Given the description of an element on the screen output the (x, y) to click on. 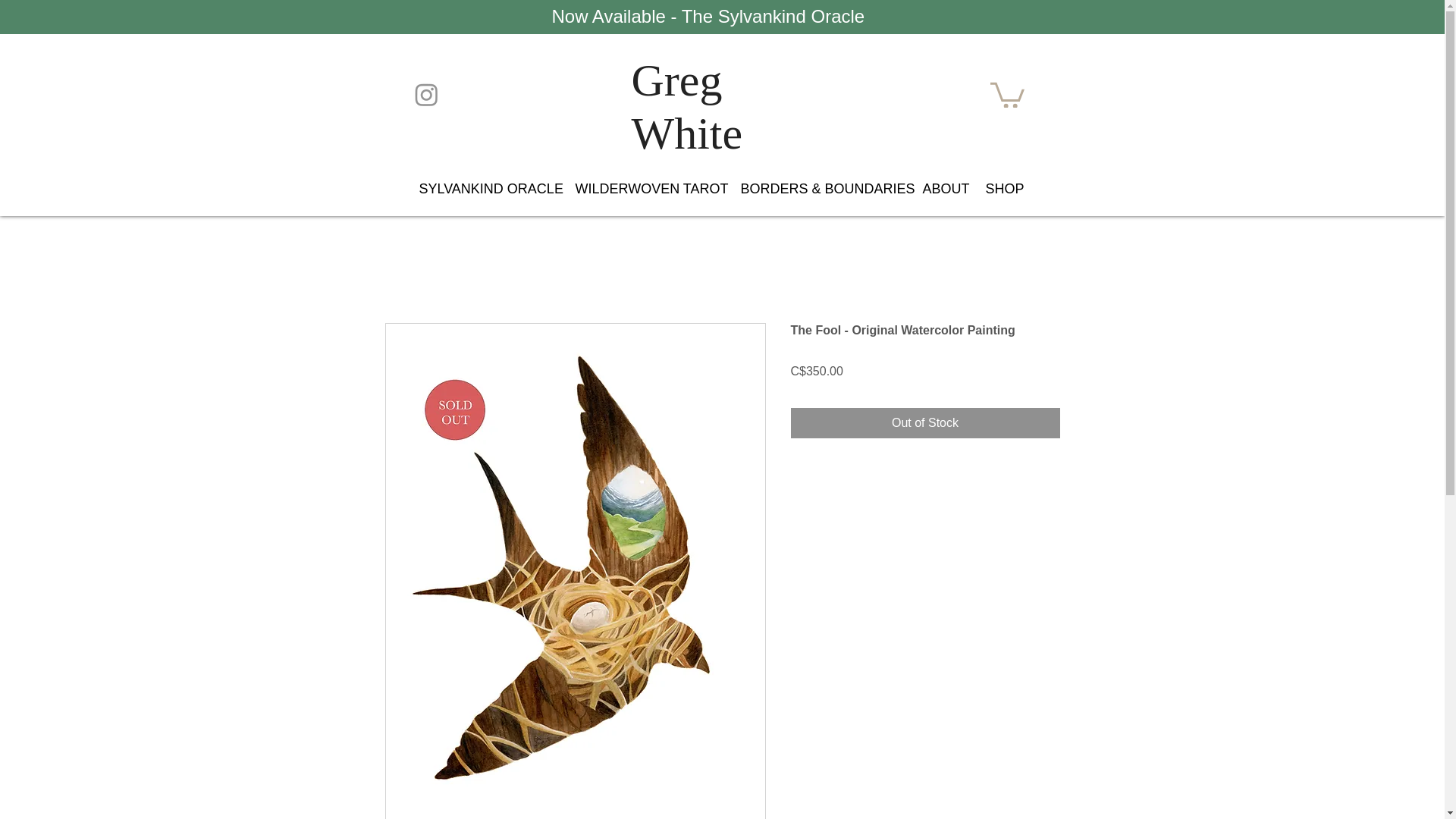
Out of Stock (924, 422)
Now Available - The Sylvankind Oracle  (710, 15)
SYLVANKIND ORACLE (488, 188)
SHOP (1005, 188)
ABOUT (945, 188)
WILDERWOVEN TAROT (649, 188)
Greg White (686, 106)
